Given the description of an element on the screen output the (x, y) to click on. 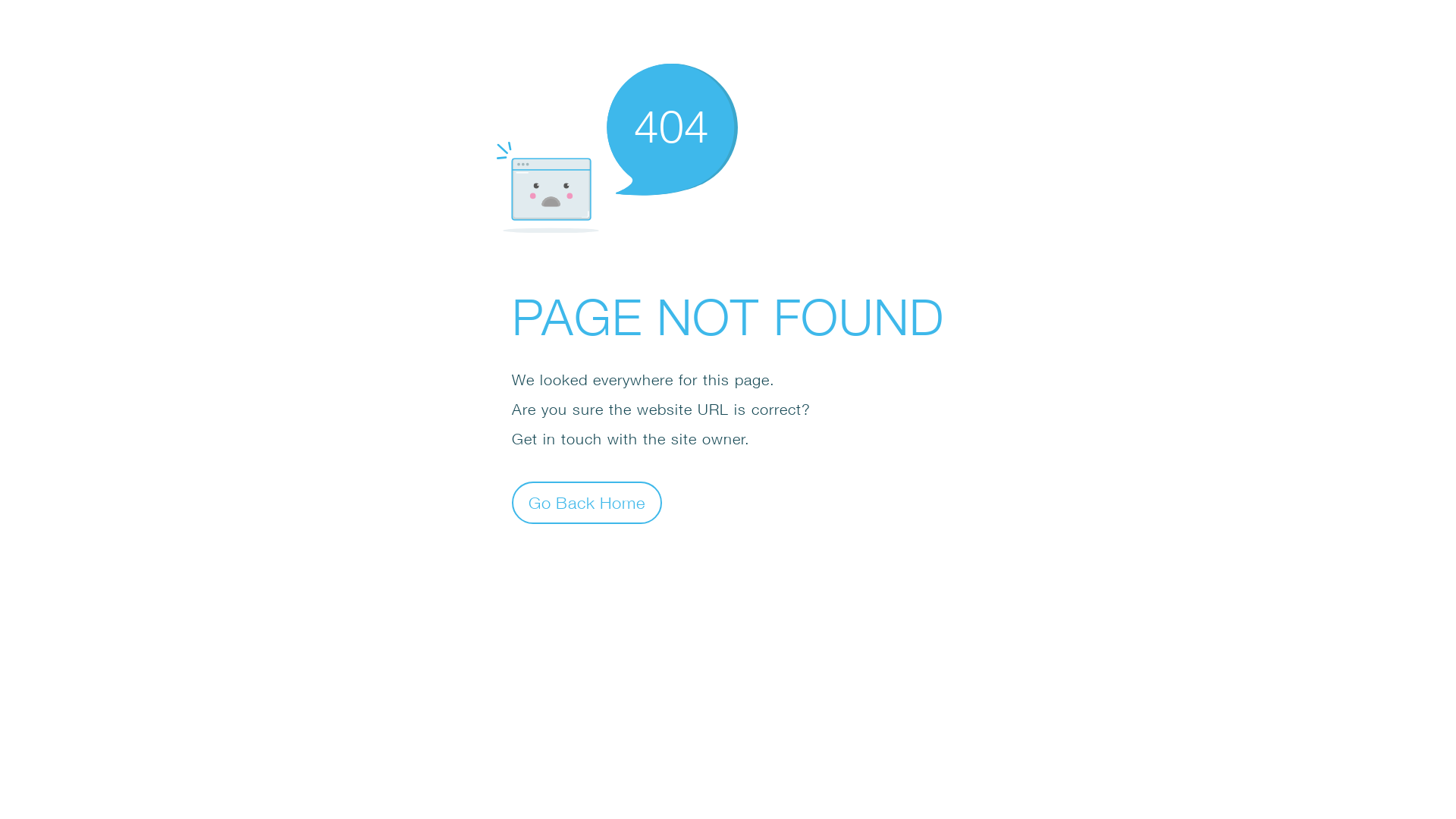
Go Back Home Element type: text (586, 502)
